Given the description of an element on the screen output the (x, y) to click on. 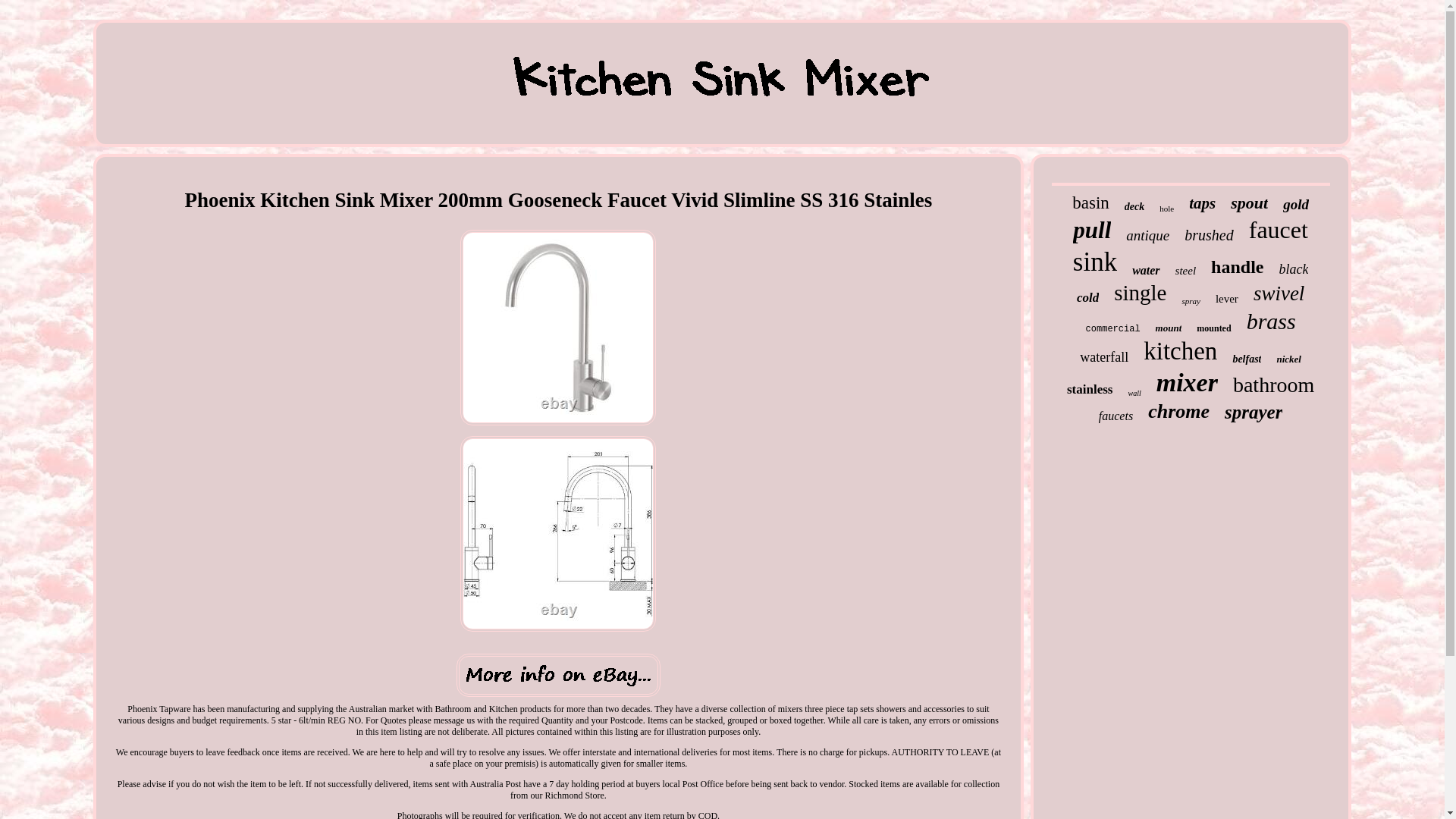
faucet (1278, 230)
brushed (1209, 235)
commercial (1113, 328)
belfast (1245, 358)
brass (1270, 321)
spout (1249, 202)
kitchen (1179, 351)
lever (1227, 298)
gold (1295, 204)
single (1139, 292)
waterfall (1104, 357)
mount (1169, 328)
hole (1165, 207)
